Given the description of an element on the screen output the (x, y) to click on. 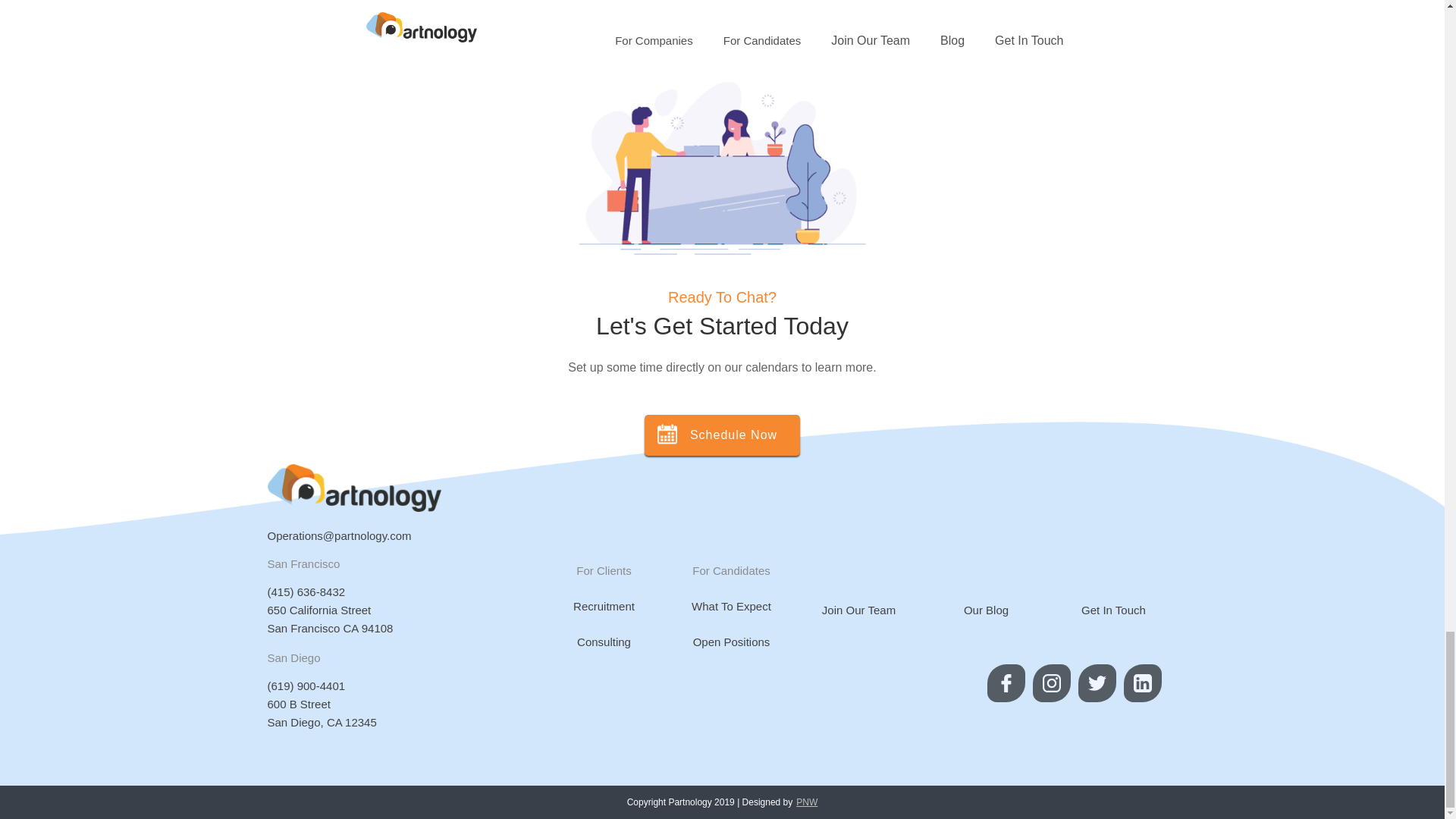
PNW (806, 802)
Recruitment (603, 607)
Consulting (603, 643)
Get In Touch (1113, 611)
Our Blog (329, 620)
What To Expect (986, 611)
Join Our Team (731, 607)
Open Positions (858, 611)
Schedule Now (731, 643)
